Given the description of an element on the screen output the (x, y) to click on. 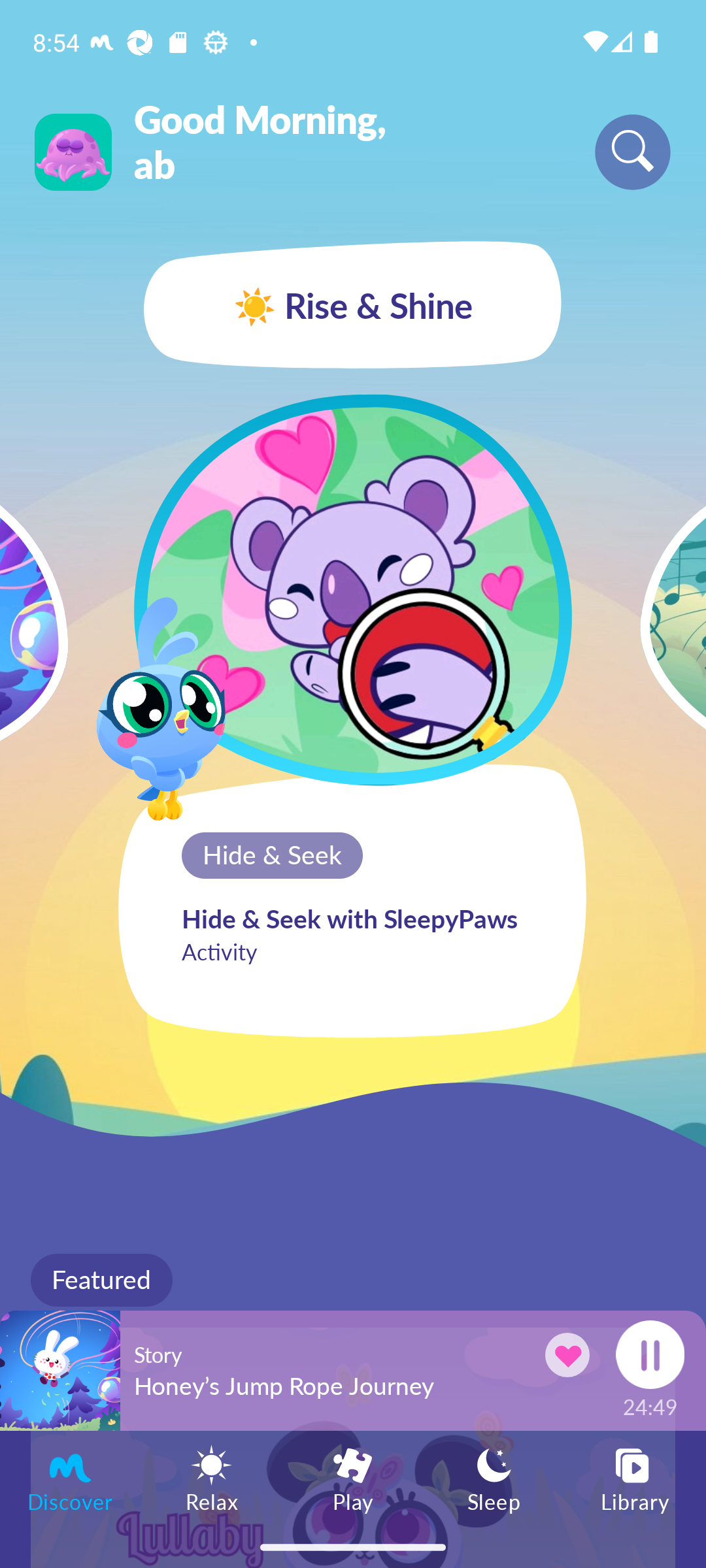
Search (632, 151)
Relax (211, 1478)
Play (352, 1478)
Sleep (493, 1478)
Library (635, 1478)
